Given the description of an element on the screen output the (x, y) to click on. 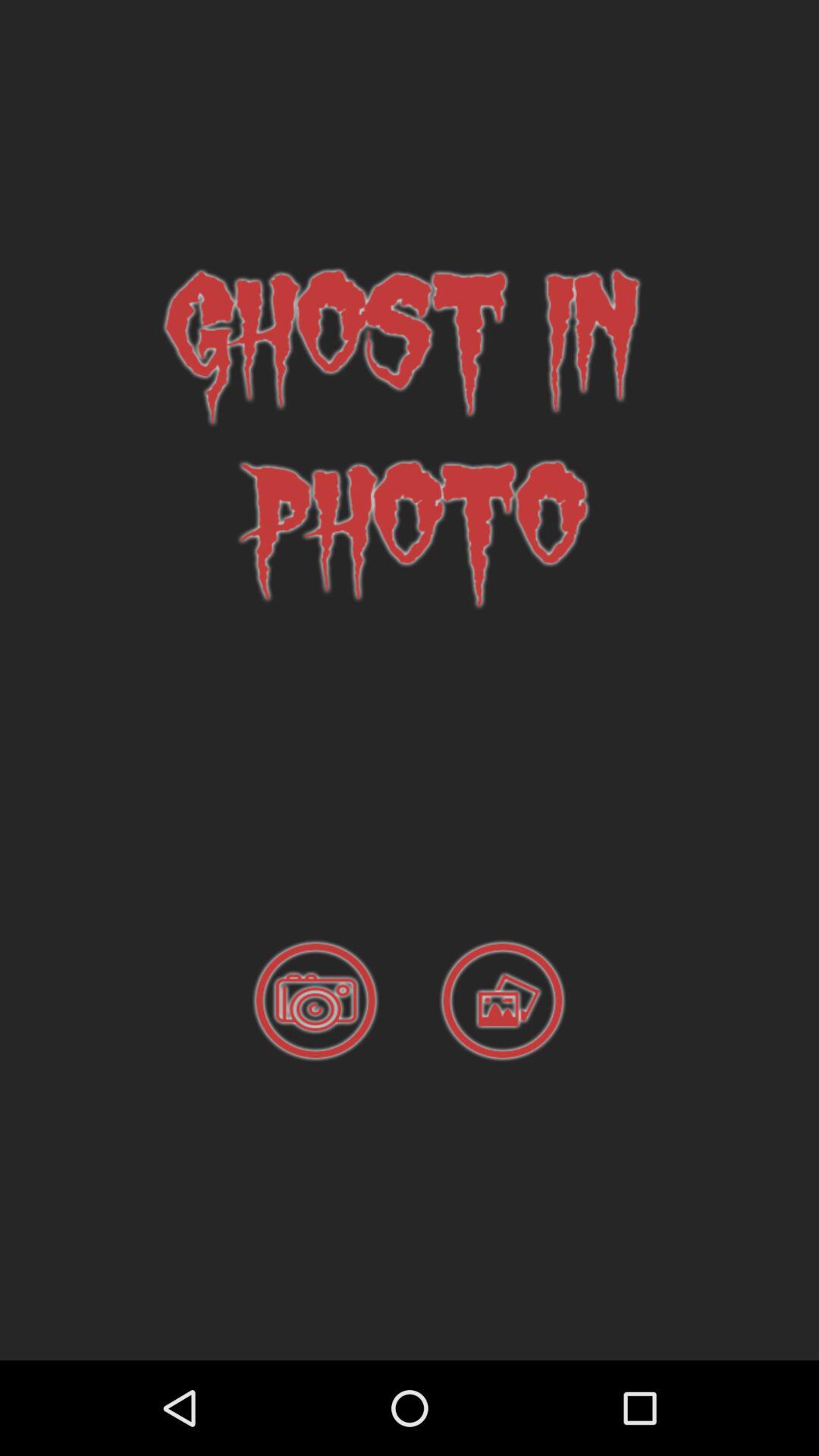
add photo (502, 1000)
